Given the description of an element on the screen output the (x, y) to click on. 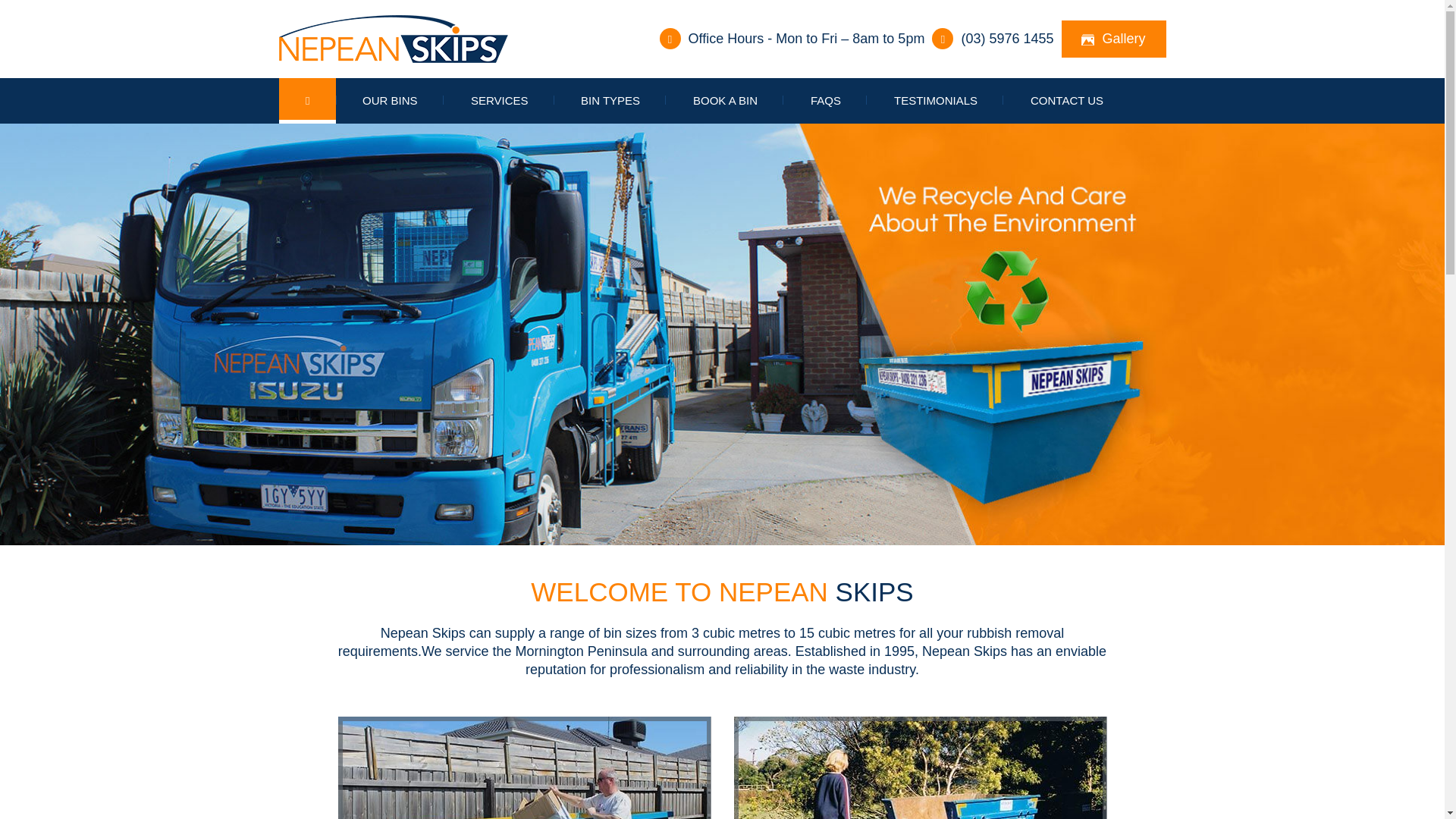
(03) 5976 1455 Element type: text (1006, 38)
OUR BINS Element type: text (389, 100)
CONTACT US Element type: text (1066, 100)
BIN TYPES Element type: text (610, 100)
SERVICES Element type: text (499, 100)
Gallery Element type: text (1113, 38)
FAQS Element type: text (825, 100)
TESTIMONIALS Element type: text (935, 100)
BOOK A BIN Element type: text (725, 100)
